Given the description of an element on the screen output the (x, y) to click on. 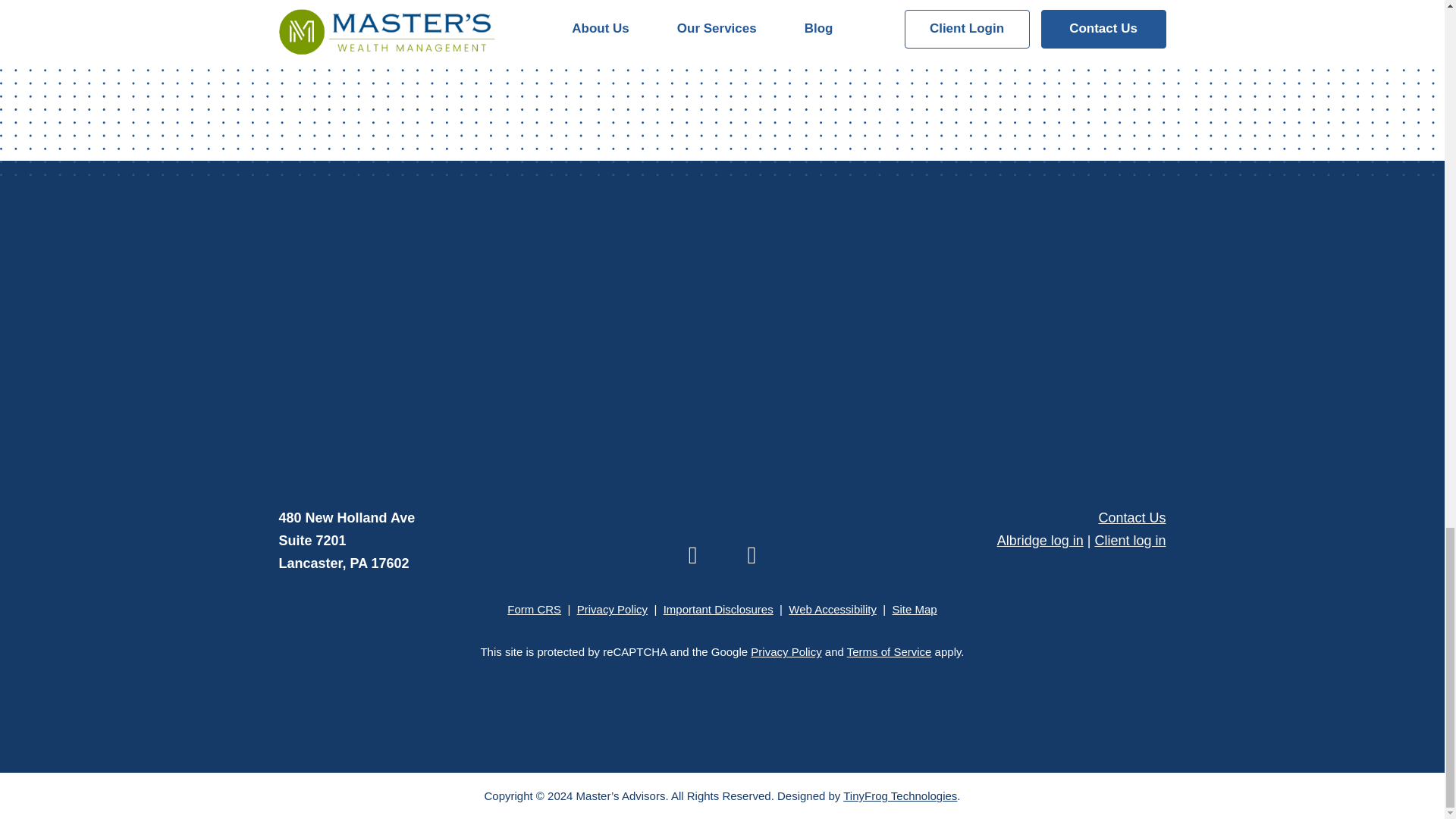
Privacy Policy (786, 651)
Form CRS (533, 608)
Privacy Policy (611, 608)
Contact Us (1131, 517)
Client log in (1130, 540)
Important Disclosures (718, 608)
Site Map (913, 608)
Terms of Service (889, 651)
TinyFrog Technologies (899, 795)
Yes please! (930, 447)
